Given the description of an element on the screen output the (x, y) to click on. 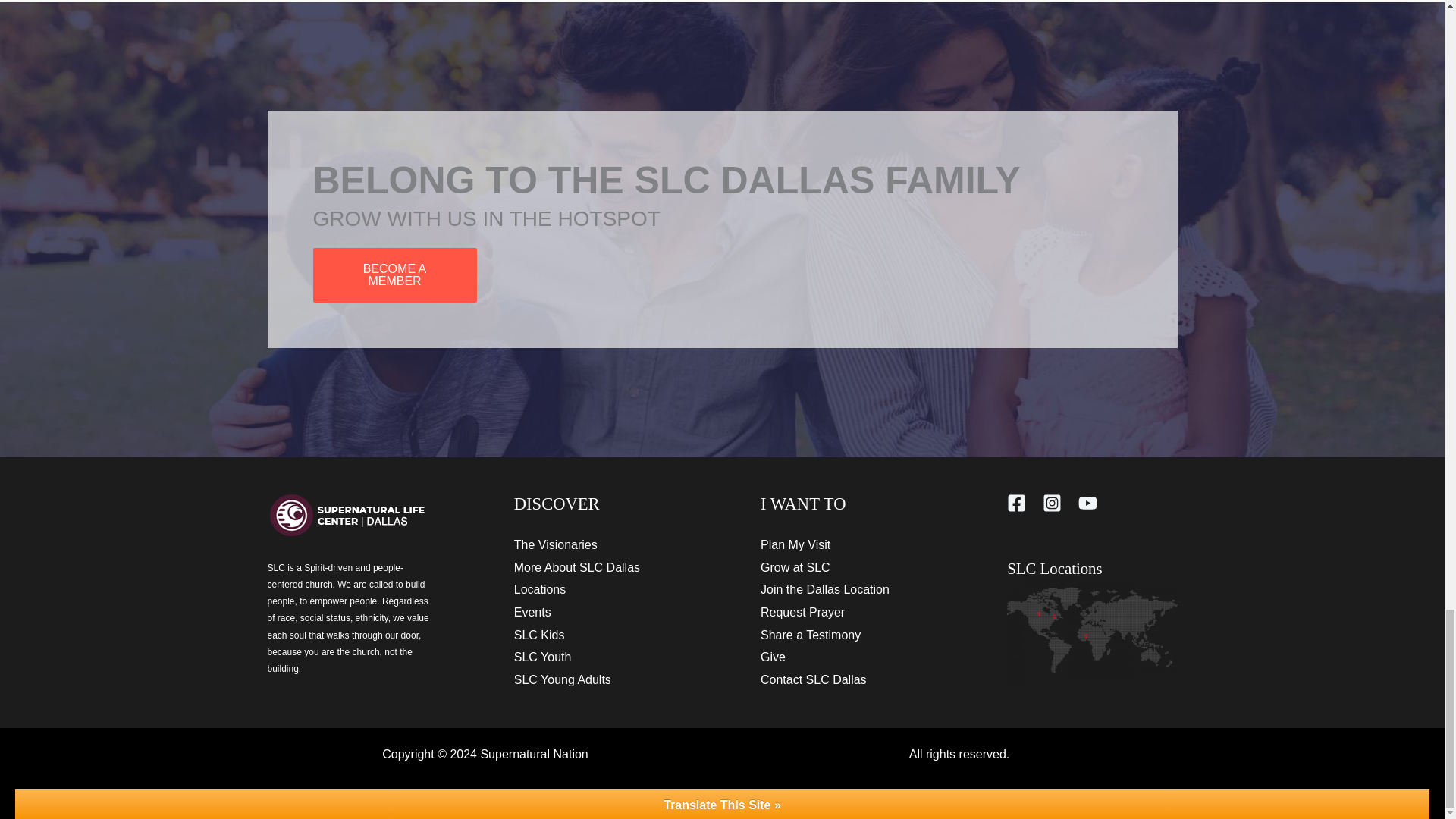
BECOME A MEMBER (394, 275)
